Given the description of an element on the screen output the (x, y) to click on. 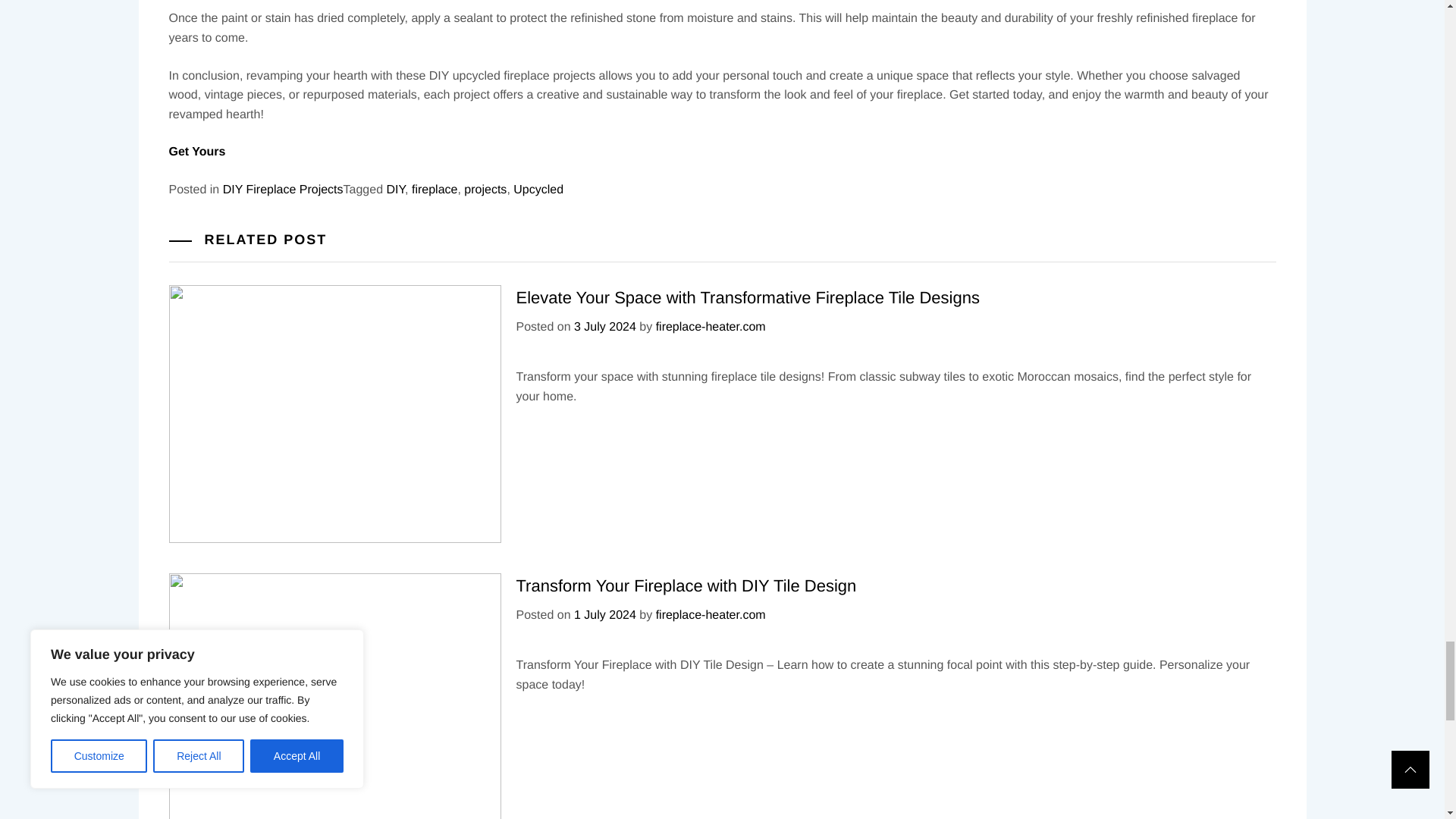
Learn more about the Get Yours here. (196, 115)
